Given the description of an element on the screen output the (x, y) to click on. 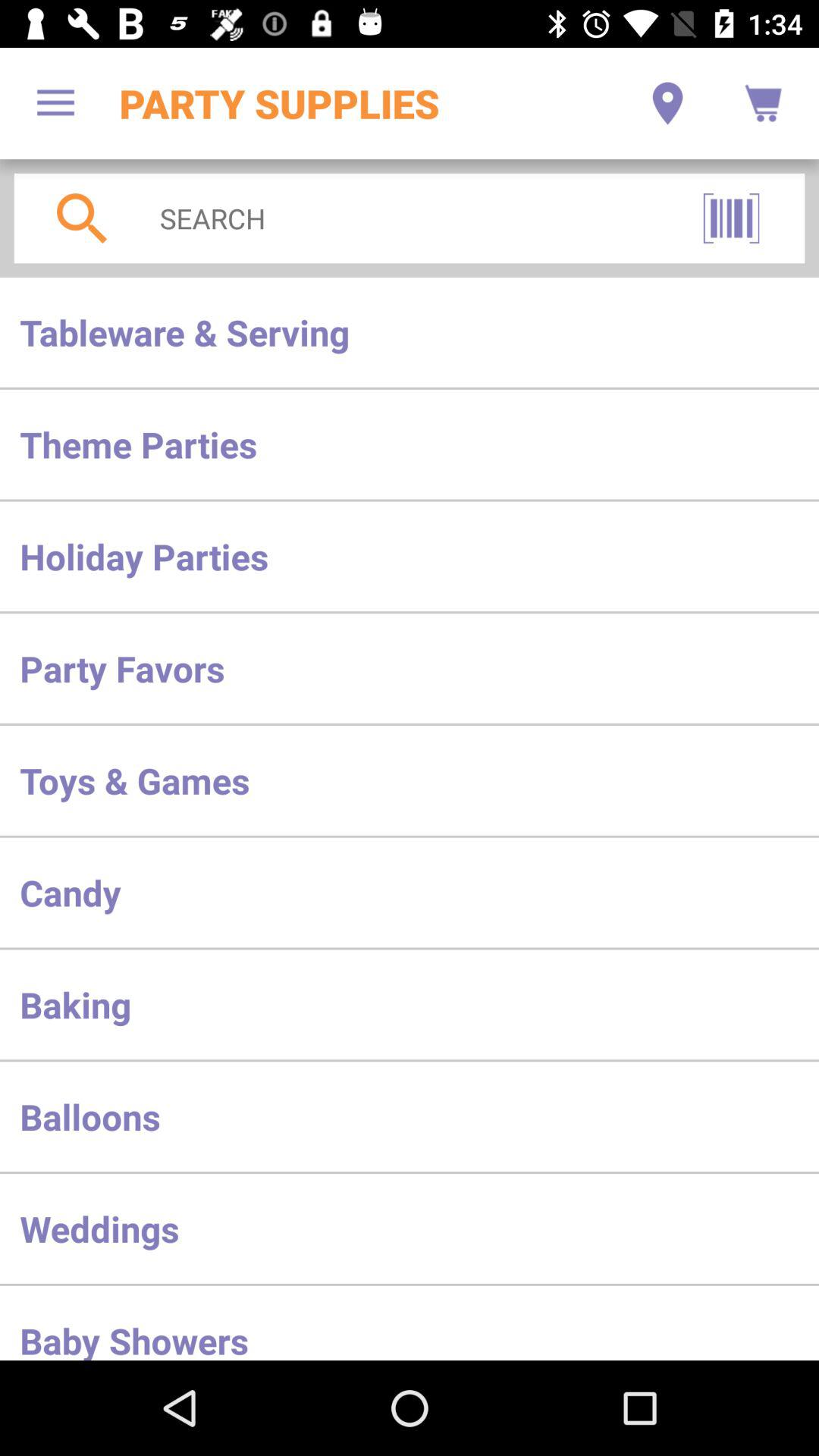
click the item below toys & games (409, 892)
